Given the description of an element on the screen output the (x, y) to click on. 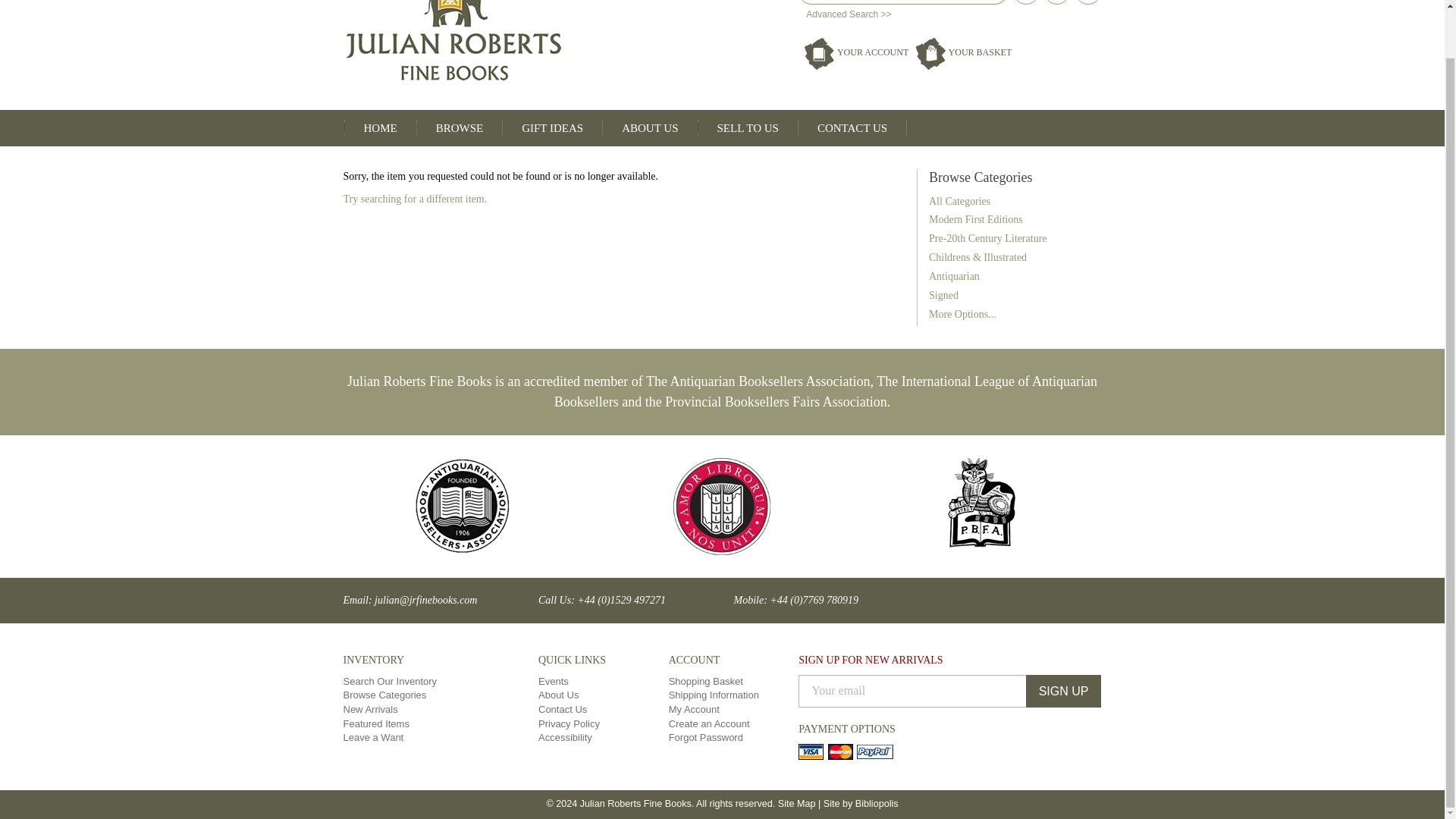
SELL TO US (747, 127)
All Categories (959, 201)
Find on Facebook (1026, 2)
Follow on Instagram (1087, 2)
Pre-20th Century Literature (987, 238)
Search Our Inventory (389, 681)
SUBMIT SEARCH (996, 2)
Julian Roberts Fine Books (526, 43)
YOUR BASKET (965, 51)
Antiquarian (953, 276)
